Given the description of an element on the screen output the (x, y) to click on. 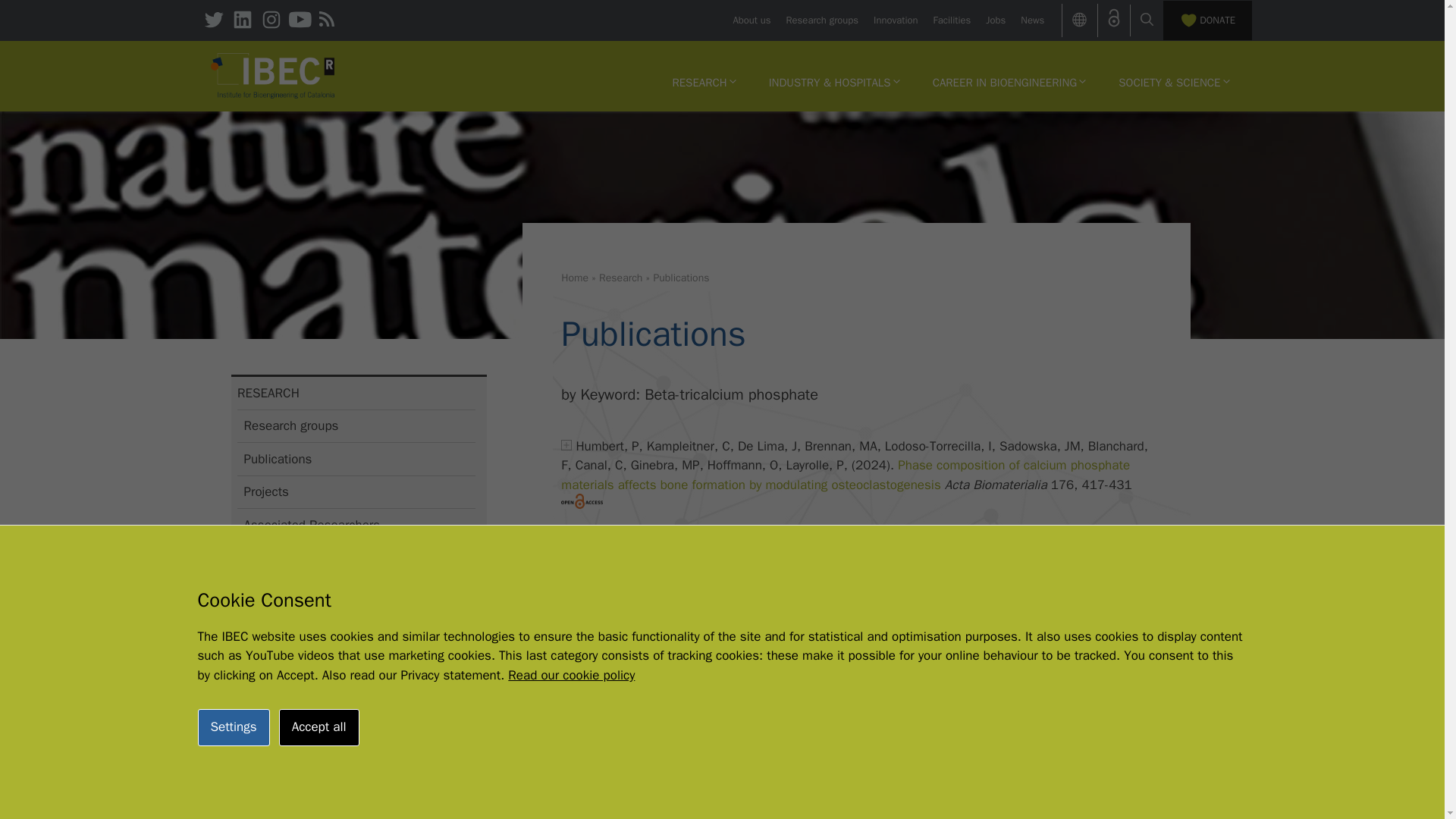
Facilities (952, 19)
Institute for Bioengineering of Catalonia (272, 75)
About us (751, 19)
Institute for Bioengineering of Catalonia (272, 74)
Research groups (822, 19)
RESEARCH (704, 81)
News (1031, 19)
Innovation (895, 19)
DONATE (1207, 20)
Jobs (995, 19)
